Given the description of an element on the screen output the (x, y) to click on. 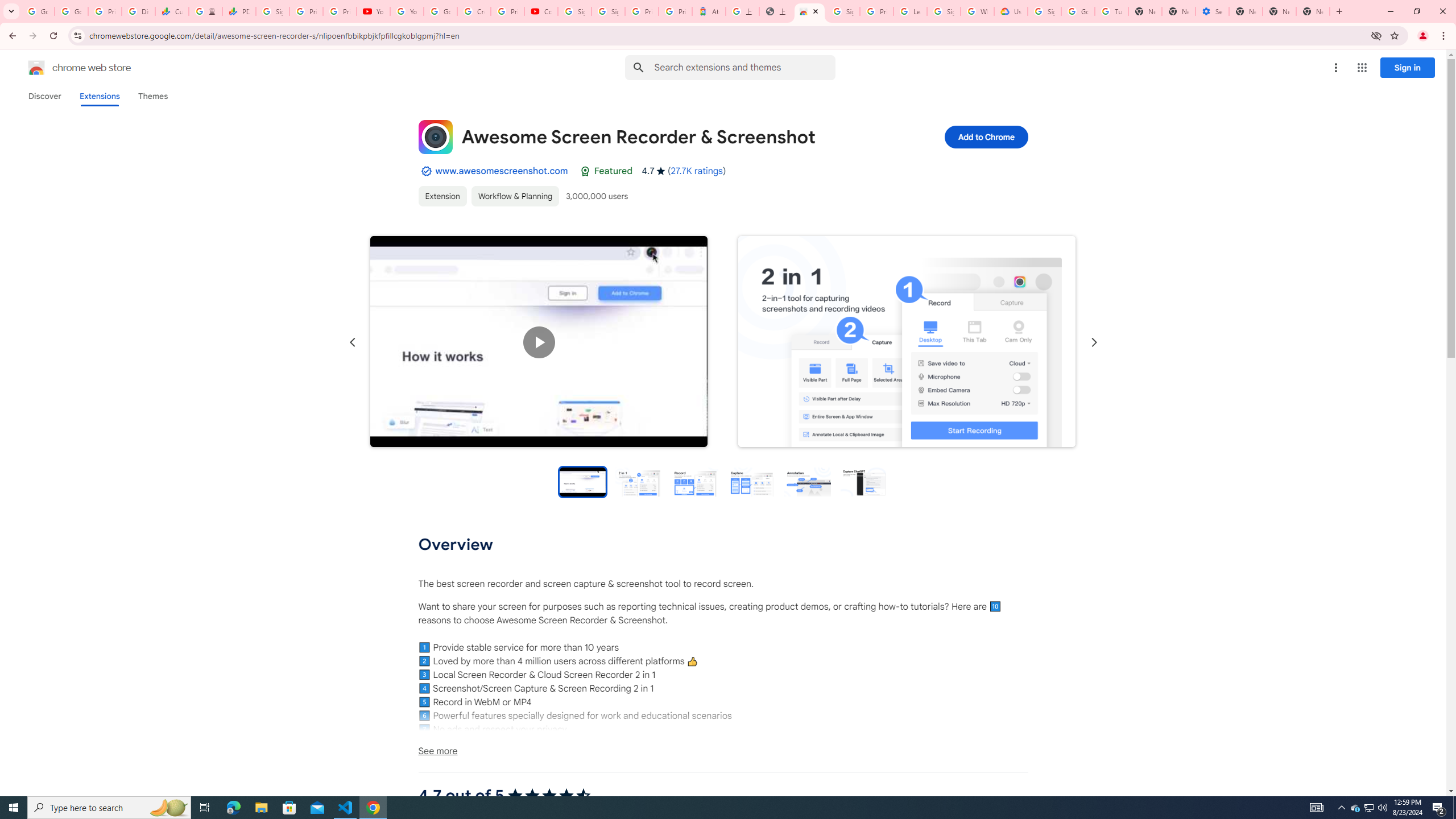
Search input (744, 67)
Item logo image for Awesome Screen Recorder & Screenshot (434, 136)
Extension (442, 195)
Item media 2 screenshot (906, 341)
See more (722, 751)
Themes (152, 95)
Sign in - Google Accounts (608, 11)
Preview slide 1 (582, 481)
Sign in - Google Accounts (842, 11)
Featured Badge (584, 170)
Google Workspace Admin Community (37, 11)
